Given the description of an element on the screen output the (x, y) to click on. 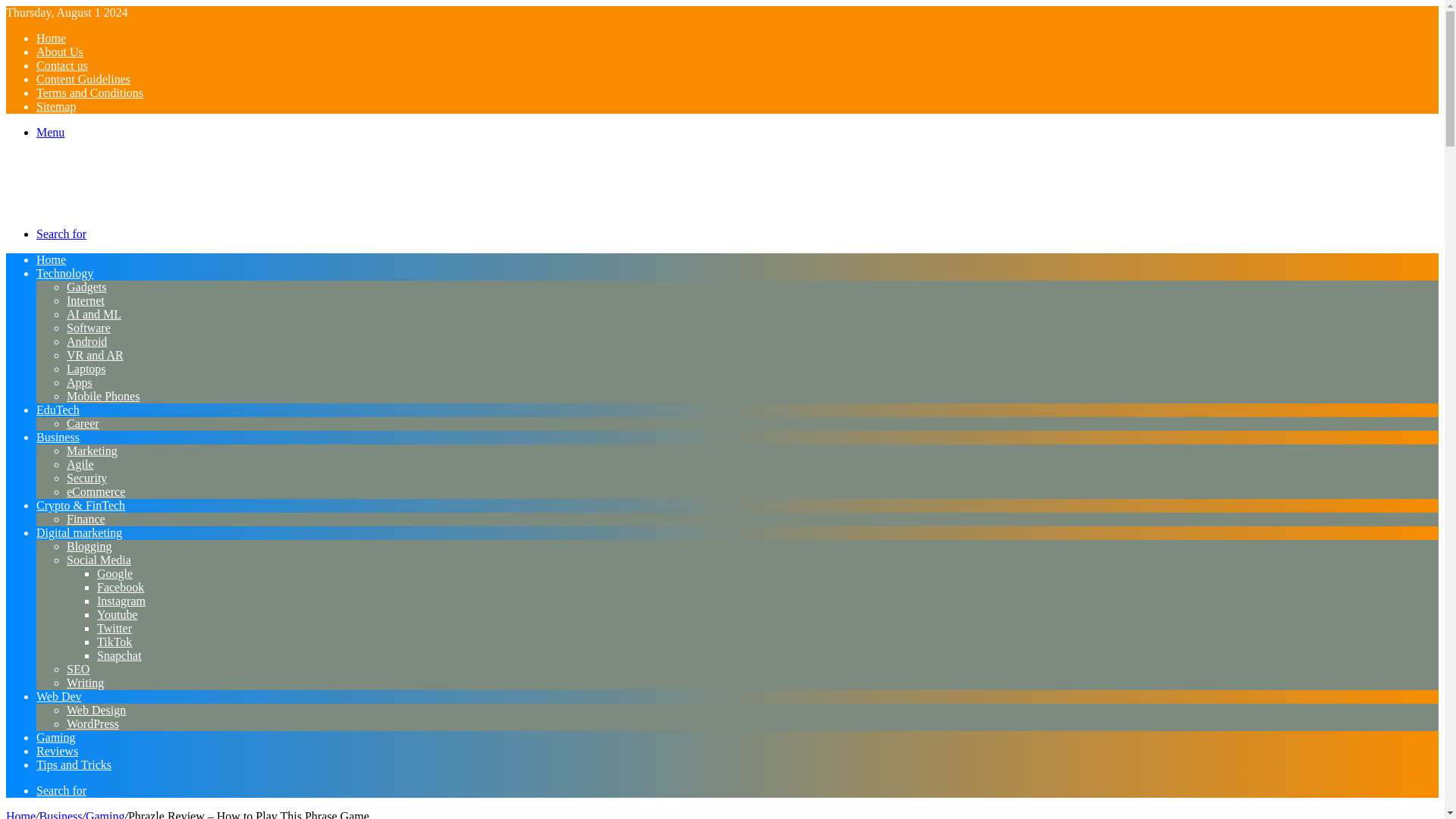
SEO (77, 668)
Sitemap (55, 106)
Security (86, 477)
AI and ML (93, 314)
Gadgets (86, 286)
Instagram (121, 600)
Menu (50, 132)
Contact us (61, 65)
Snapchat (119, 655)
Marketing (91, 450)
Blogging (89, 545)
Finance (85, 518)
VR and AR (94, 354)
Android (86, 341)
eCommerce (95, 491)
